Given the description of an element on the screen output the (x, y) to click on. 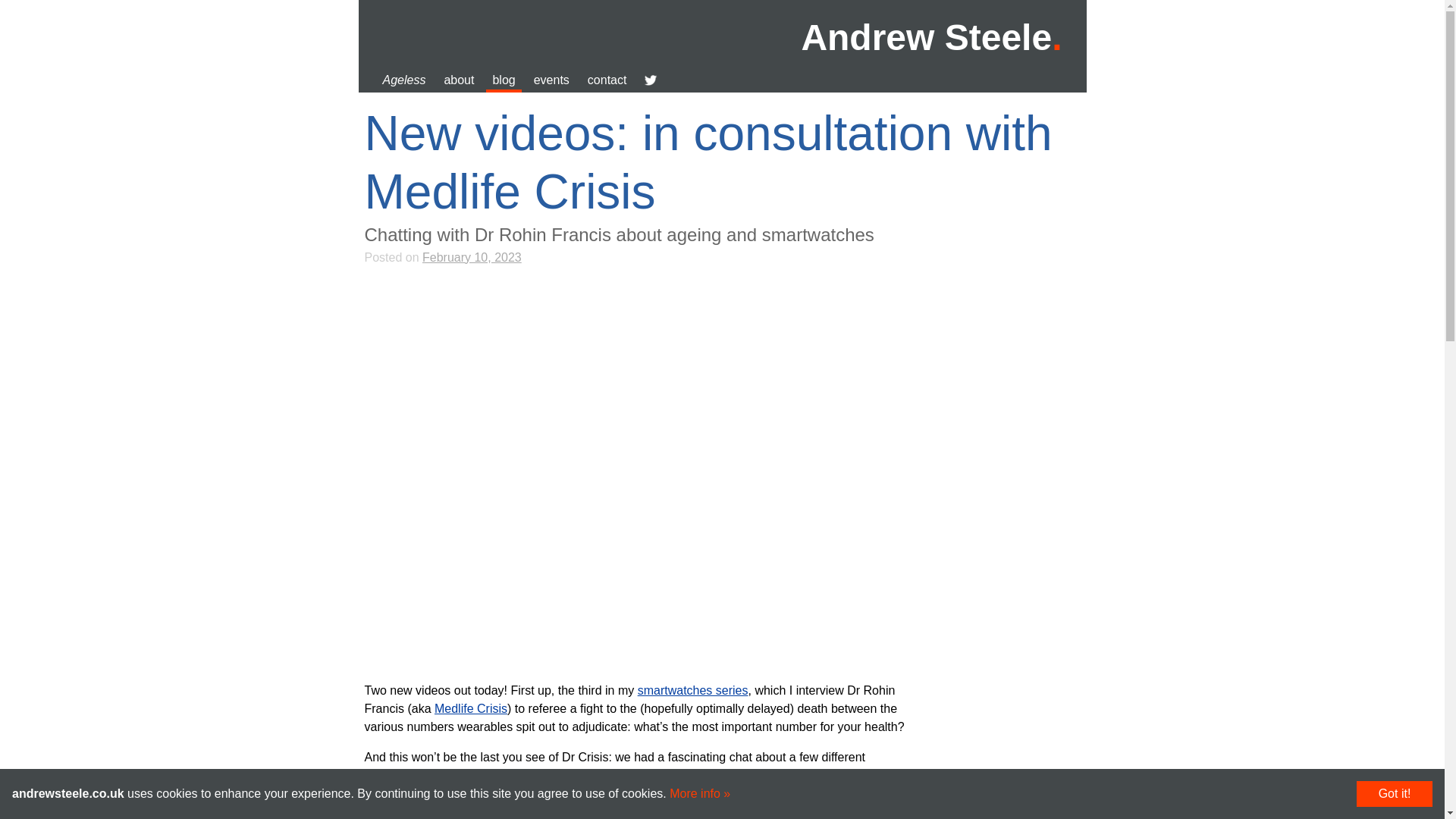
blog (503, 79)
Andrew Steele (930, 37)
Ageless (402, 79)
Medlife Crisis (469, 707)
Medlife Crisis (469, 707)
about (459, 79)
More info (699, 793)
contact (606, 79)
smartwatches series (692, 689)
February 10, 2023 (471, 256)
